Given the description of an element on the screen output the (x, y) to click on. 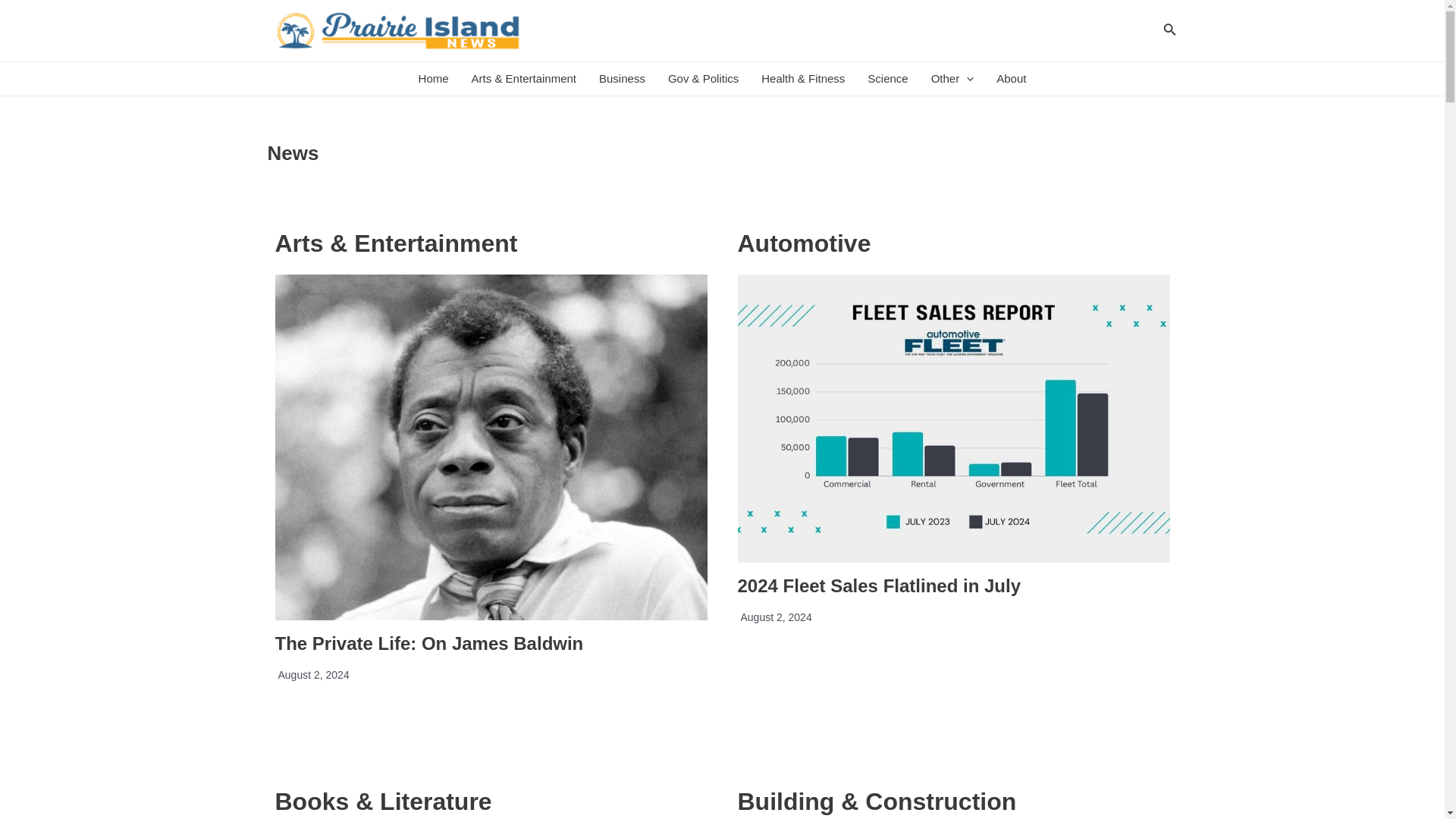
Other (952, 78)
Business (622, 78)
About (1010, 78)
Home (433, 78)
Science (887, 78)
